Given the description of an element on the screen output the (x, y) to click on. 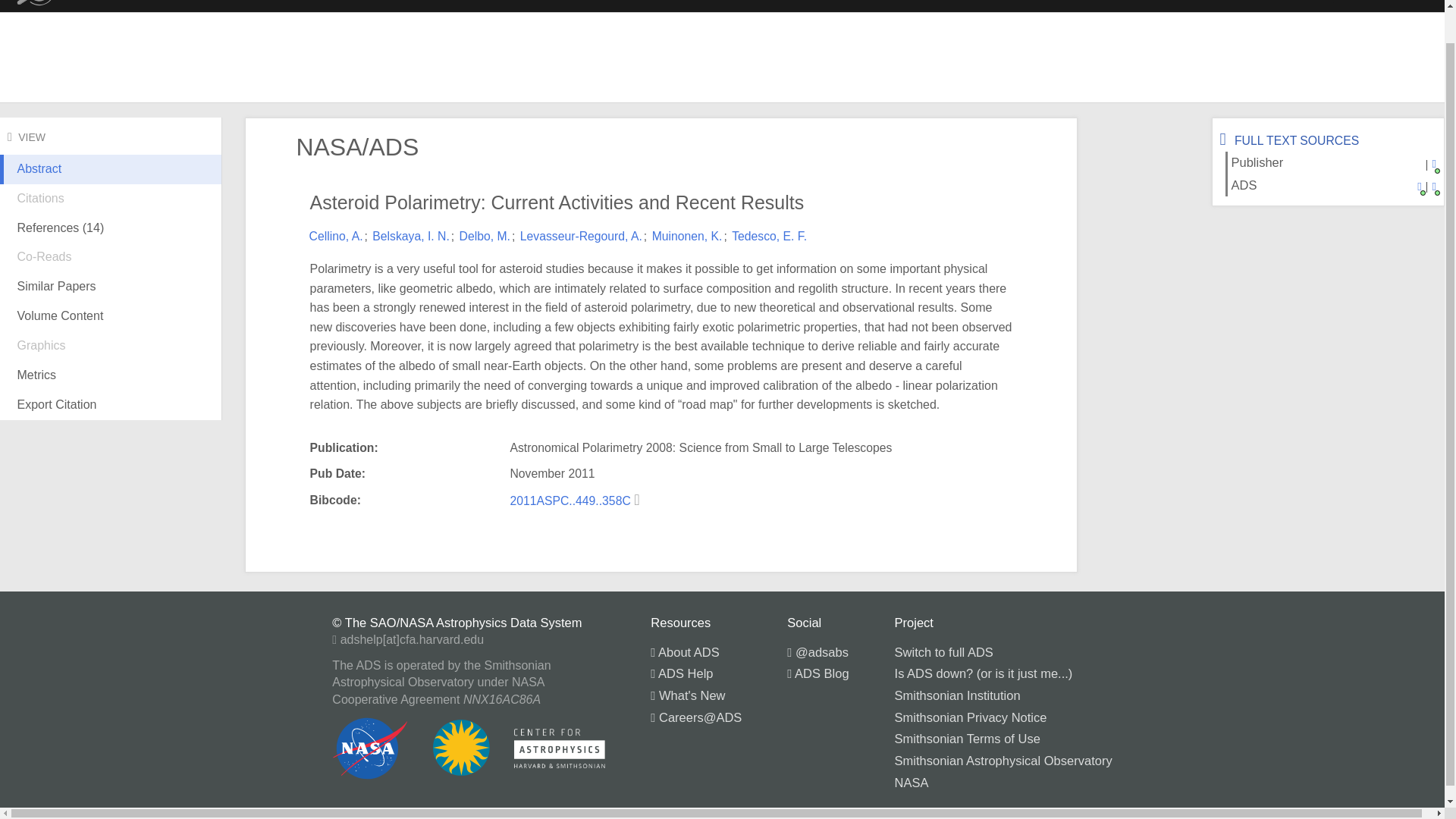
Similar Papers (110, 286)
Smithsonian Institution (957, 694)
Smithsonian Terms of Use (968, 738)
Belskaya, I. N. (410, 236)
Switch to full ADS (943, 652)
Levasseur-Regourd, A. (580, 236)
ADS Help (681, 673)
Tedesco, E. F. (769, 236)
About ADS (684, 652)
Smithsonian Privacy Notice (970, 716)
Export Citation (110, 405)
2011ASPC..449..358C (571, 500)
Cellino, A. (335, 236)
Abstract (110, 181)
Smithsonian Astrophysical Observatory (1003, 760)
